Given the description of an element on the screen output the (x, y) to click on. 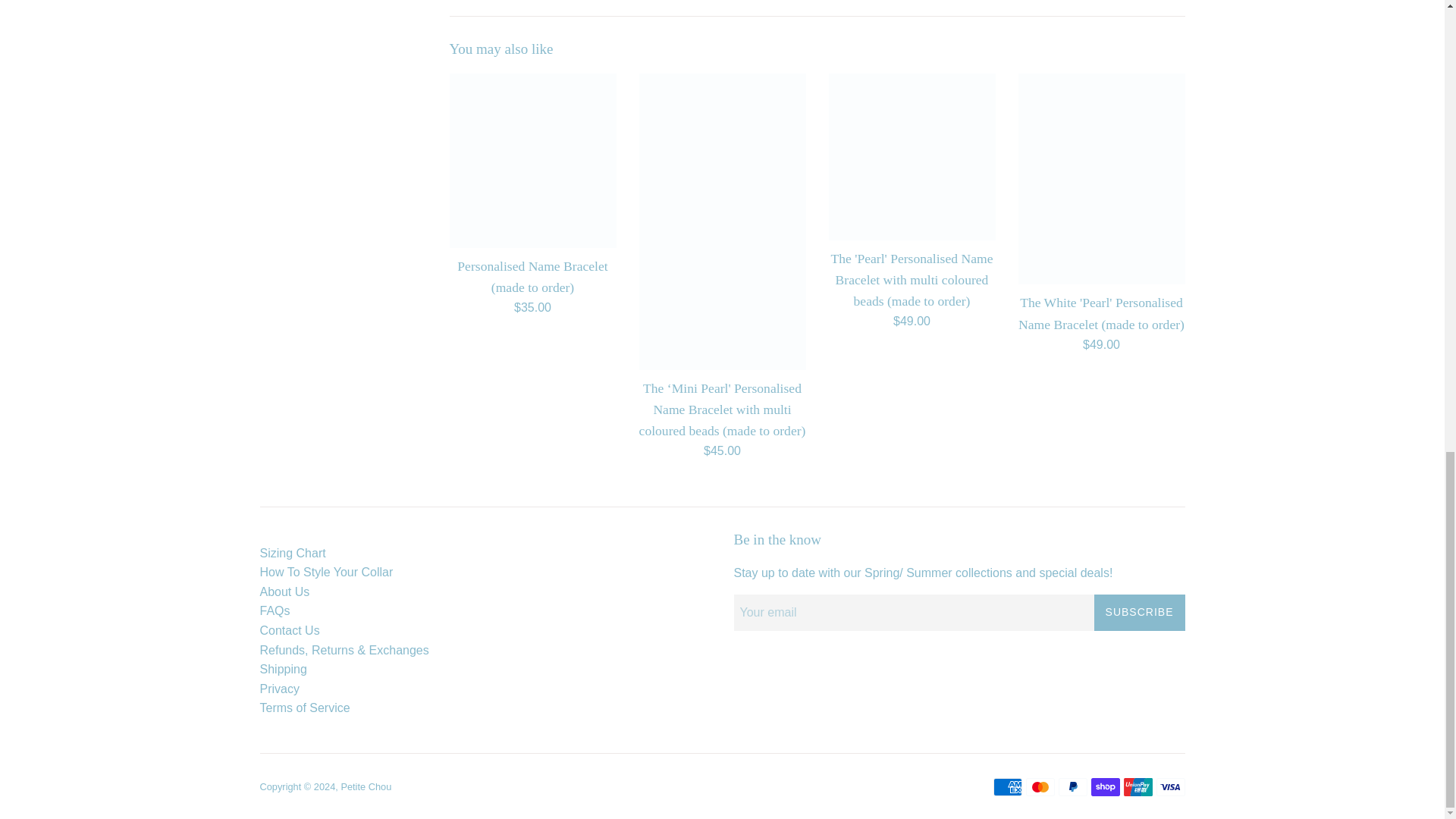
American Express (1007, 787)
PayPal (1072, 787)
Visa (1170, 787)
Shop Pay (1104, 787)
Mastercard (1039, 787)
Union Pay (1138, 787)
